Given the description of an element on the screen output the (x, y) to click on. 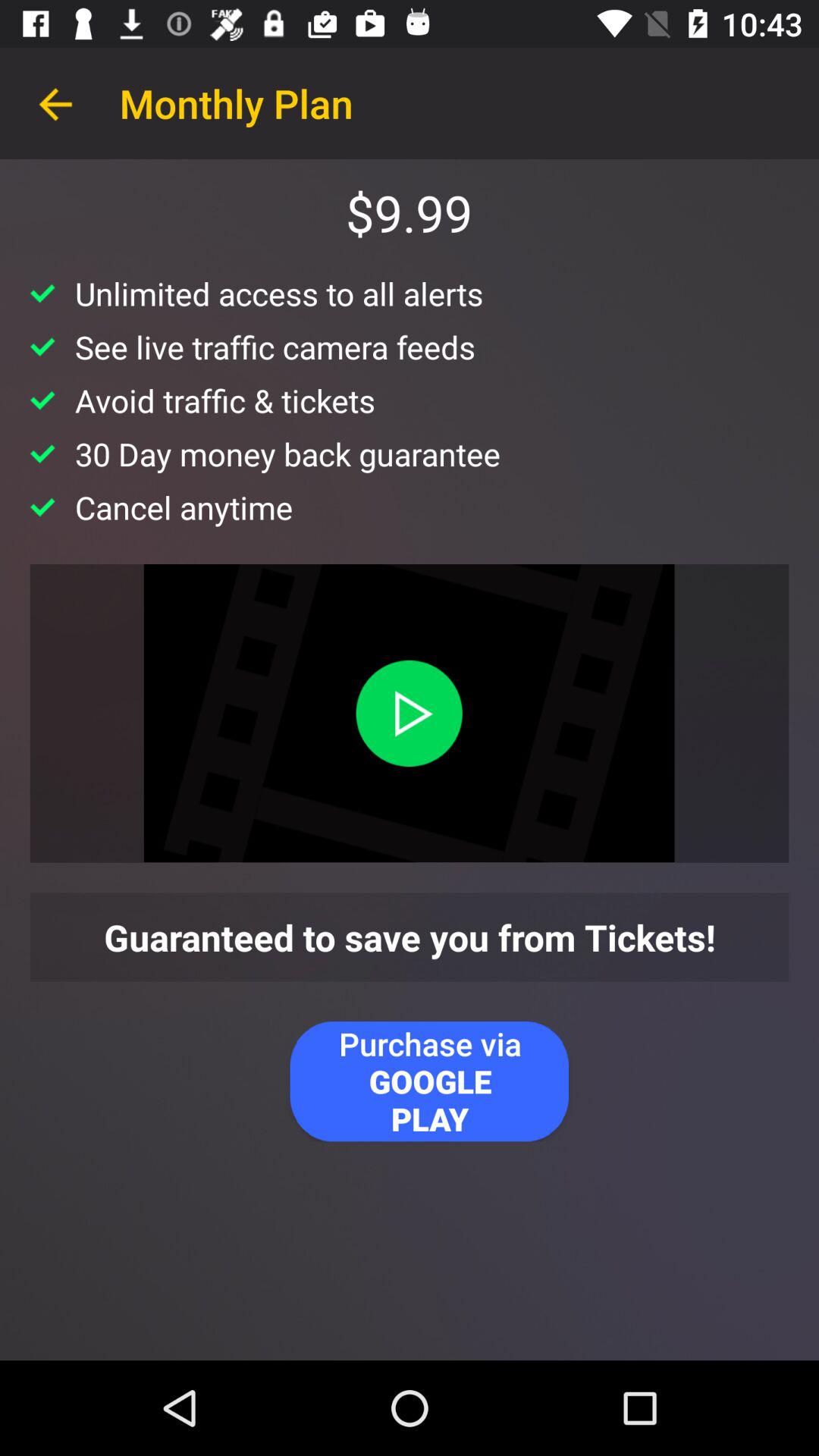
press app to the left of the monthly plan app (55, 103)
